Given the description of an element on the screen output the (x, y) to click on. 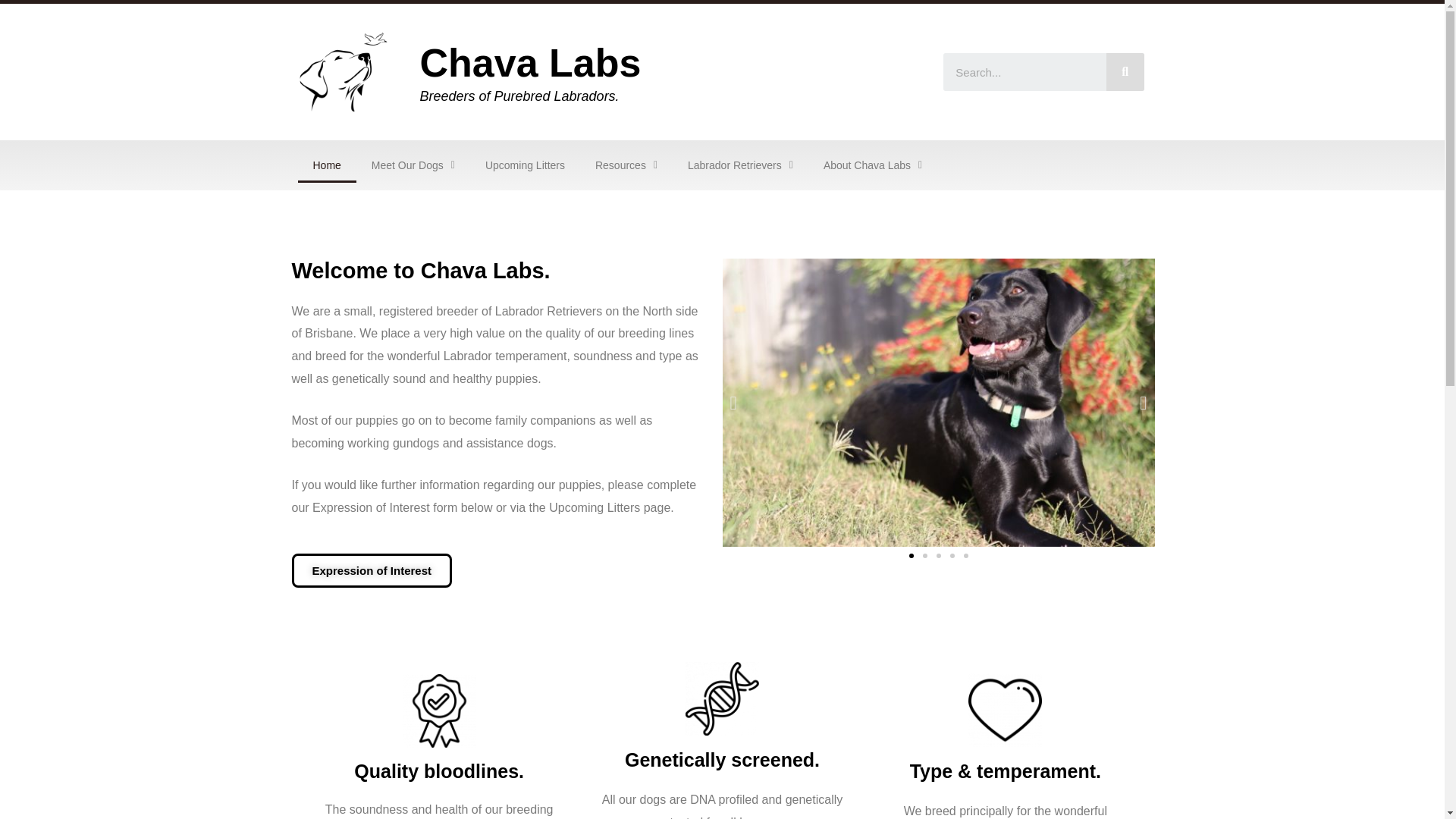
Upcoming Litters (524, 165)
Labrador Retrievers (740, 165)
Search (1125, 71)
About Chava Labs (872, 165)
Meet Our Dogs (413, 165)
Chava Labs (529, 62)
Home (326, 165)
Resources (625, 165)
dna (721, 698)
Search (1024, 71)
heart (1005, 709)
badge (439, 710)
